Given the description of an element on the screen output the (x, y) to click on. 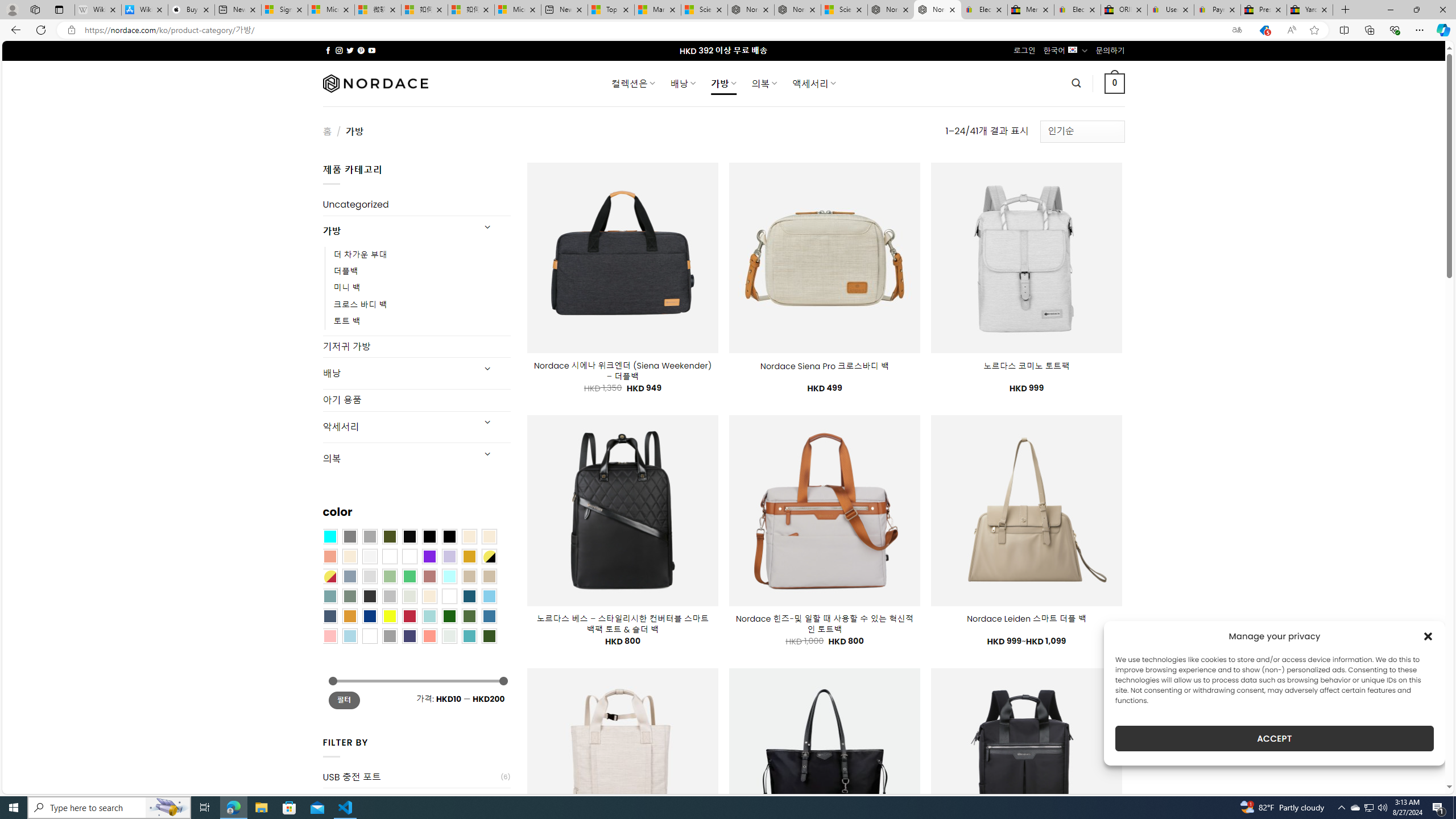
Press Room - eBay Inc. (1263, 9)
Buy iPad - Apple (191, 9)
